Given the description of an element on the screen output the (x, y) to click on. 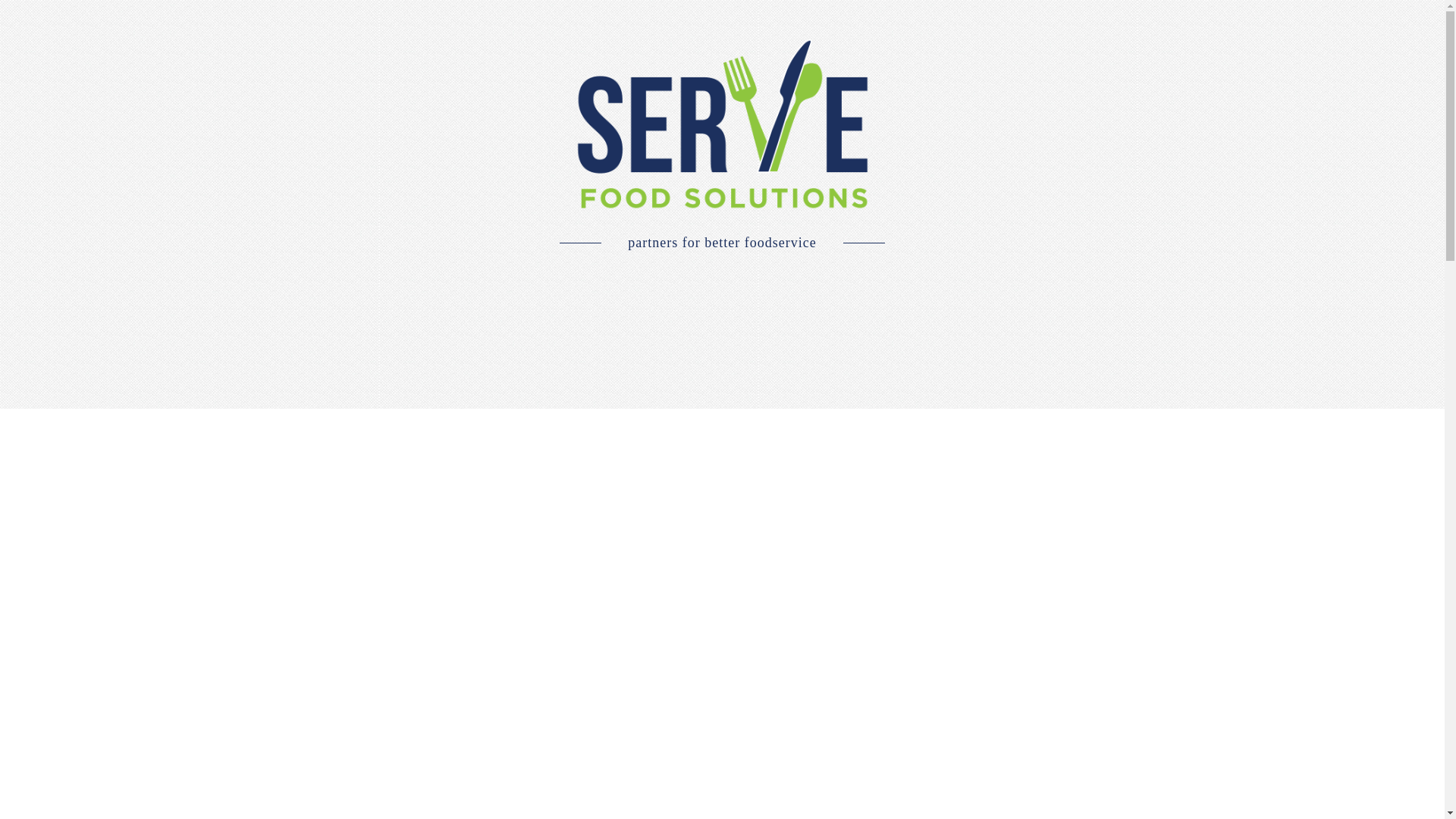
logo-large2x (721, 123)
